Given the description of an element on the screen output the (x, y) to click on. 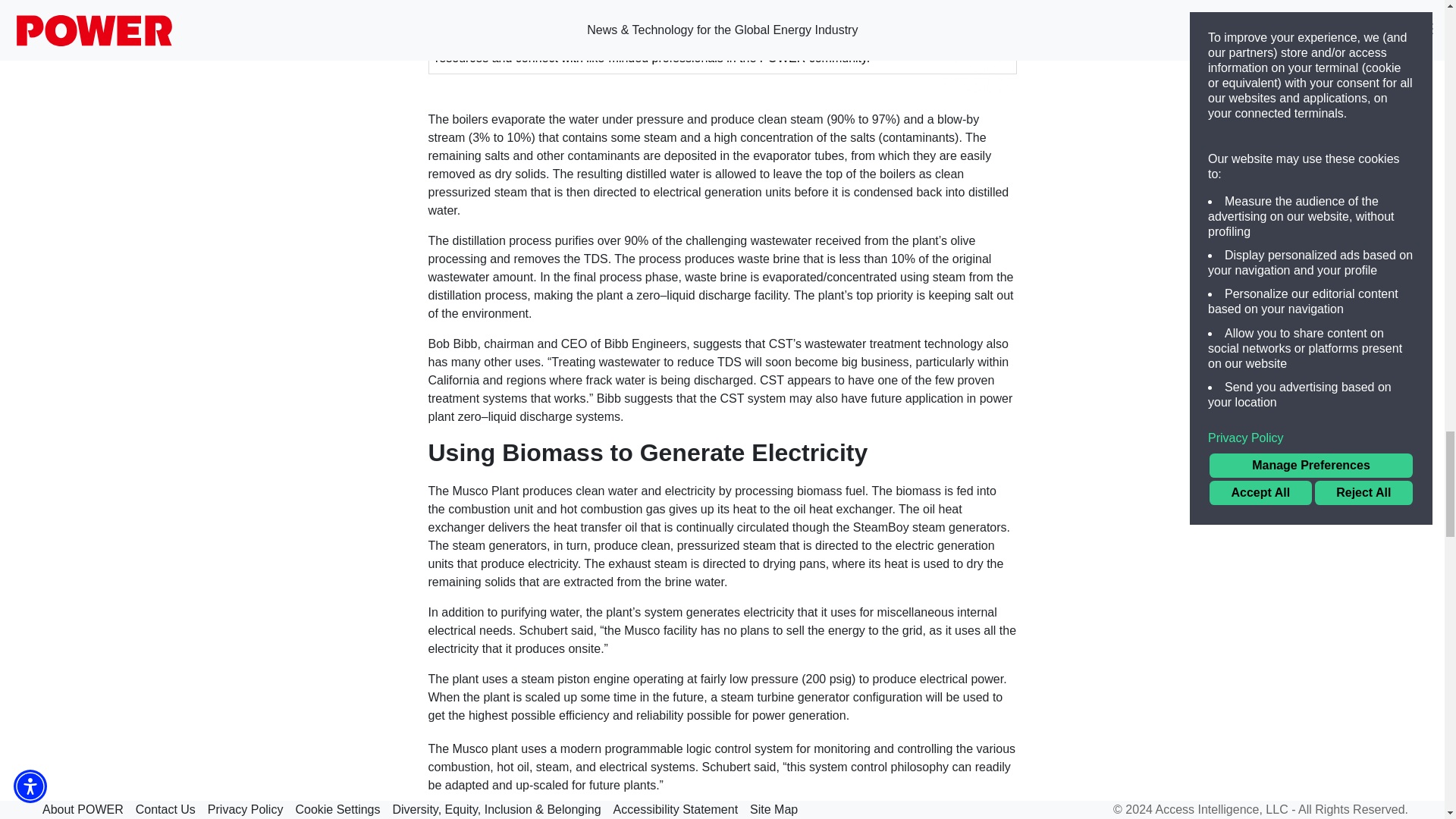
3rd party ad content (722, 47)
3rd party ad content (1181, 759)
